Given the description of an element on the screen output the (x, y) to click on. 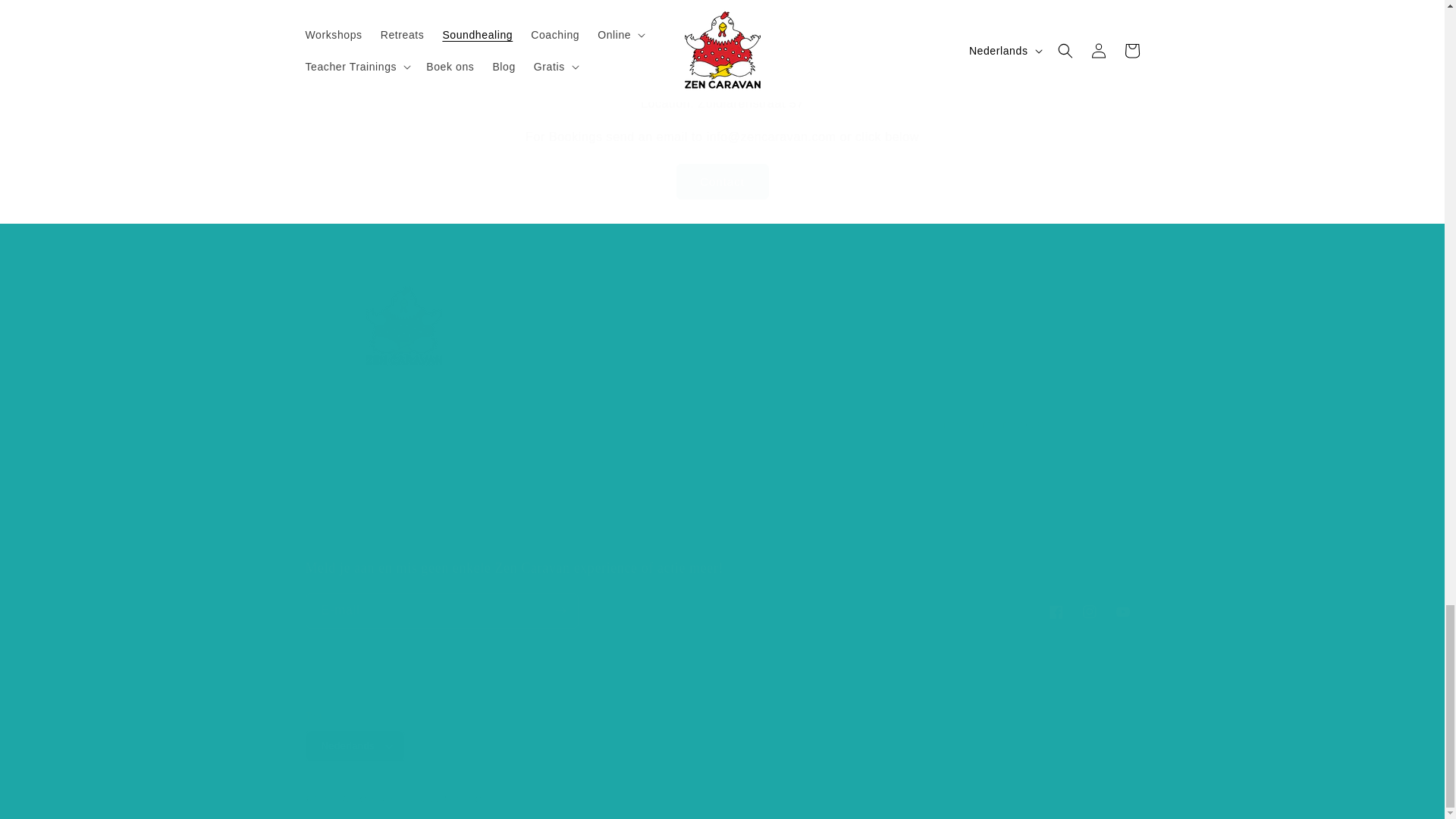
Boek ons (992, 423)
Contact (722, 181)
